Given the description of an element on the screen output the (x, y) to click on. 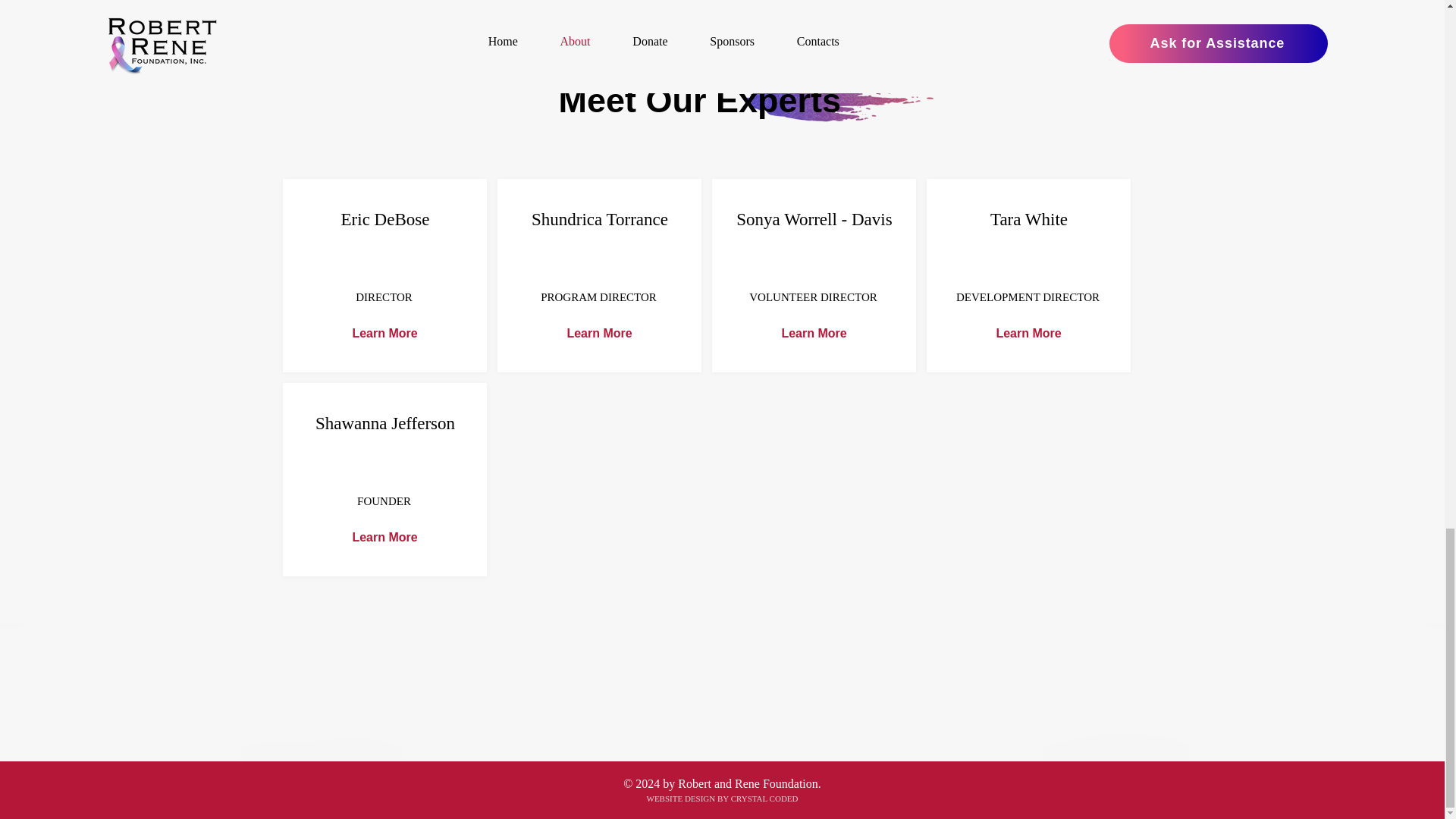
Learn More (813, 333)
banner-title-shape.png (839, 101)
Learn More (599, 333)
Learn More (1029, 333)
WEBSITE DESIGN (680, 798)
Learn More (384, 333)
Learn More (384, 537)
CRYSTAL CODED (763, 798)
